Given the description of an element on the screen output the (x, y) to click on. 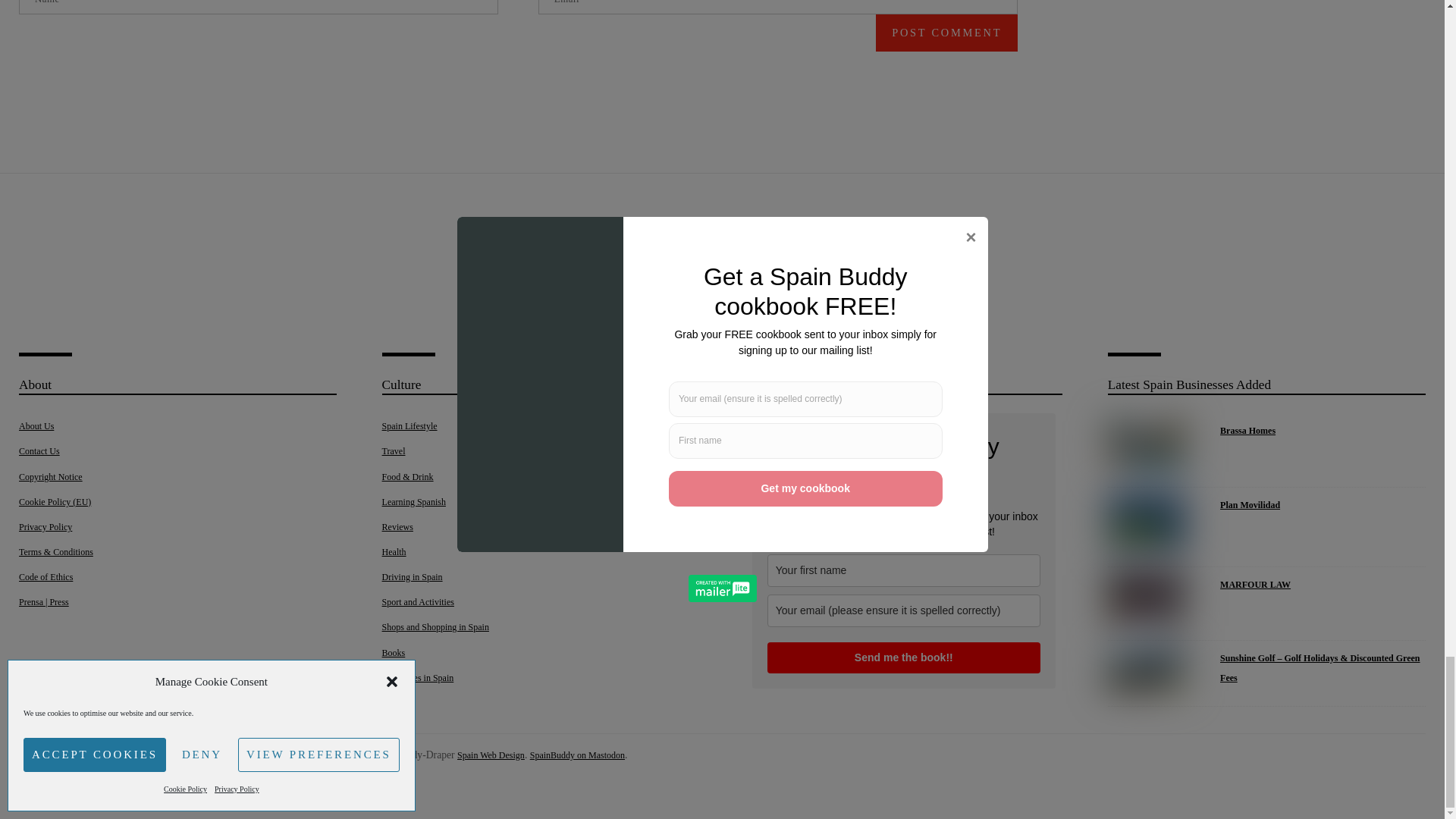
Post Comment (946, 32)
